Given the description of an element on the screen output the (x, y) to click on. 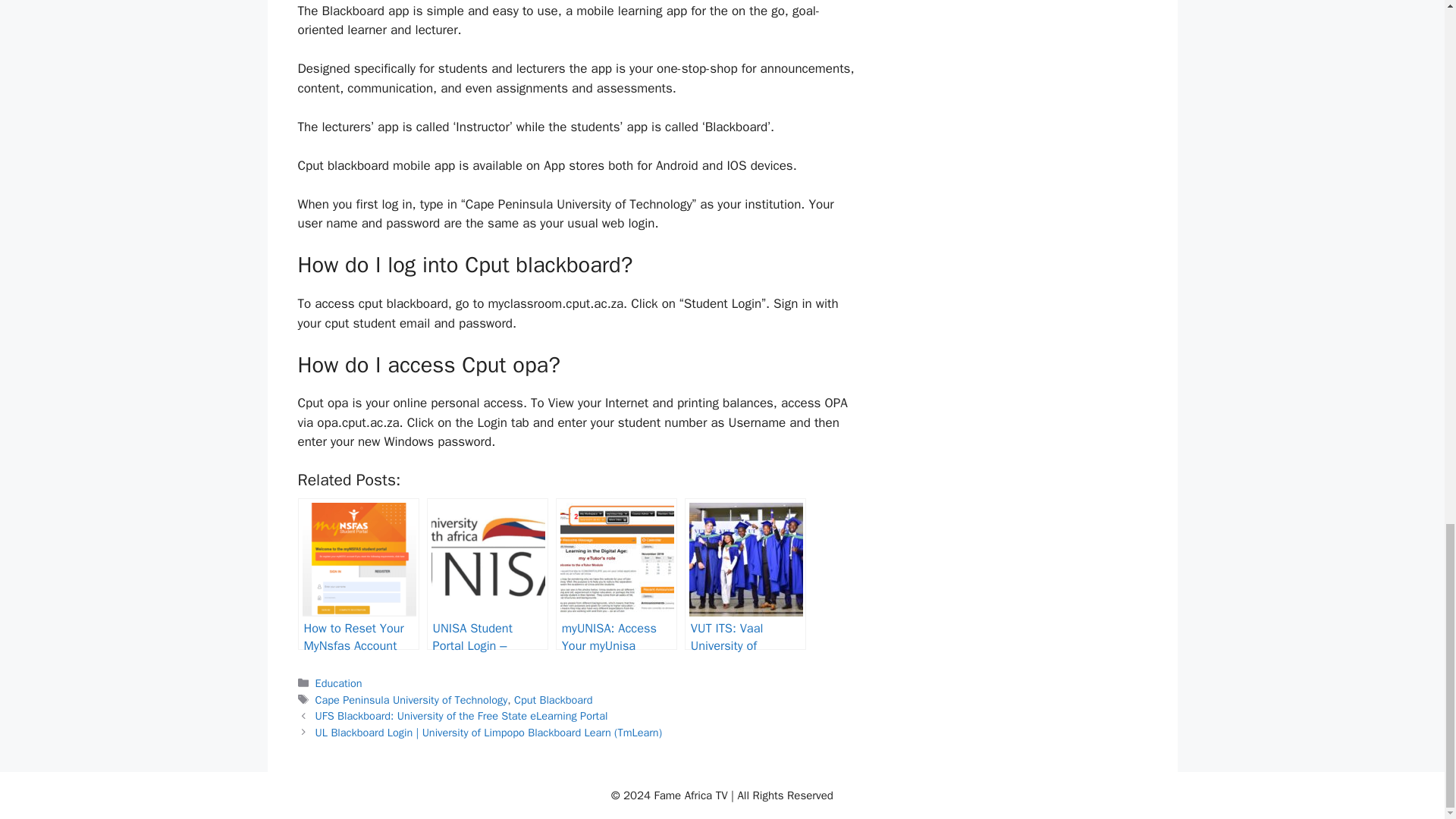
Cput Blackboard (552, 698)
Education (338, 683)
Cape Peninsula University of Technology (411, 698)
